Given the description of an element on the screen output the (x, y) to click on. 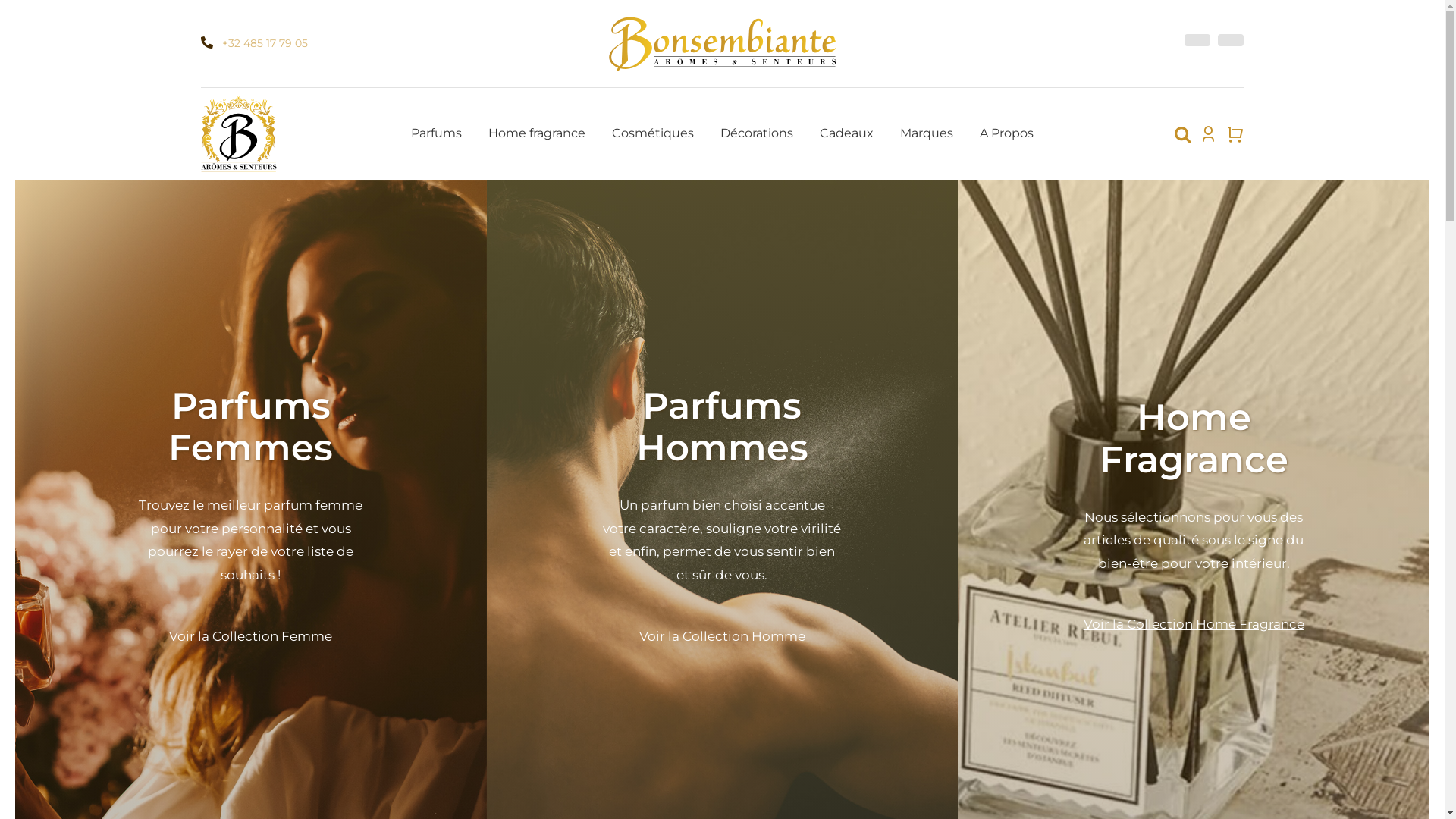
A Propos Element type: text (1006, 133)
Se connecter Element type: text (1158, 316)
Parfums Element type: text (436, 133)
Voir la Collection Home Fragrance Element type: text (1193, 623)
Instagram Element type: hover (1230, 40)
+32 485 17 79 05 Element type: text (264, 43)
Home fragrance Element type: text (536, 133)
Voir la Collection Femme Element type: text (250, 635)
Marques Element type: text (926, 133)
Cadeaux Element type: text (846, 133)
Recherche Element type: hover (1182, 133)
Facebook Element type: hover (1197, 40)
Voir la Collection Homme Element type: text (722, 635)
